Given the description of an element on the screen output the (x, y) to click on. 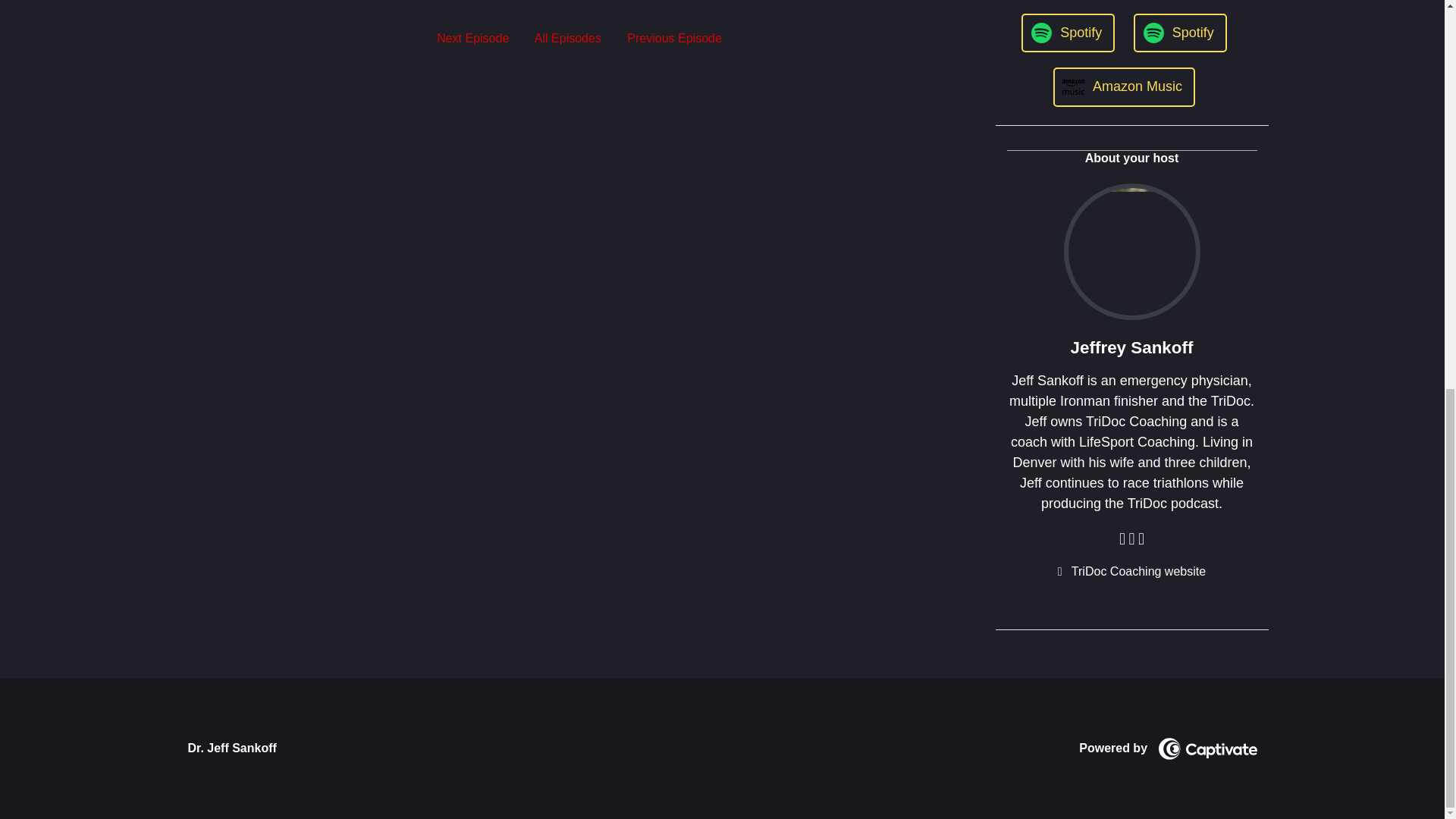
Previous Episode (674, 38)
Spotify (1068, 32)
Next Episode (472, 38)
Spotify (1180, 32)
Amazon Music (1123, 87)
All Episodes (567, 38)
TriDoc Coaching website (1132, 571)
